Given the description of an element on the screen output the (x, y) to click on. 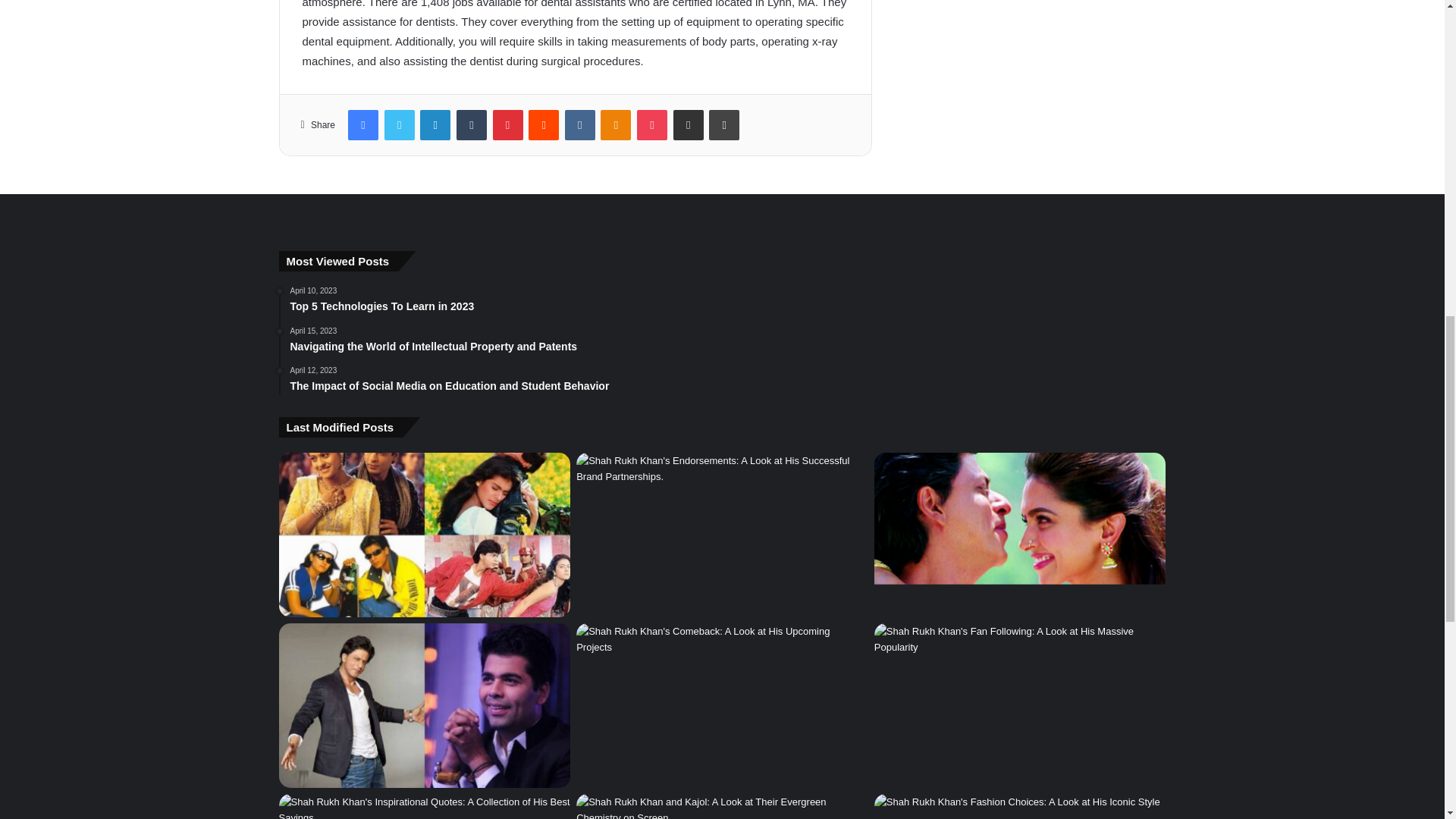
Facebook (362, 124)
Pinterest (507, 124)
Print (724, 124)
Pocket (651, 124)
Print (724, 124)
Facebook (362, 124)
Tumblr (471, 124)
Share via Email (687, 124)
